Given the description of an element on the screen output the (x, y) to click on. 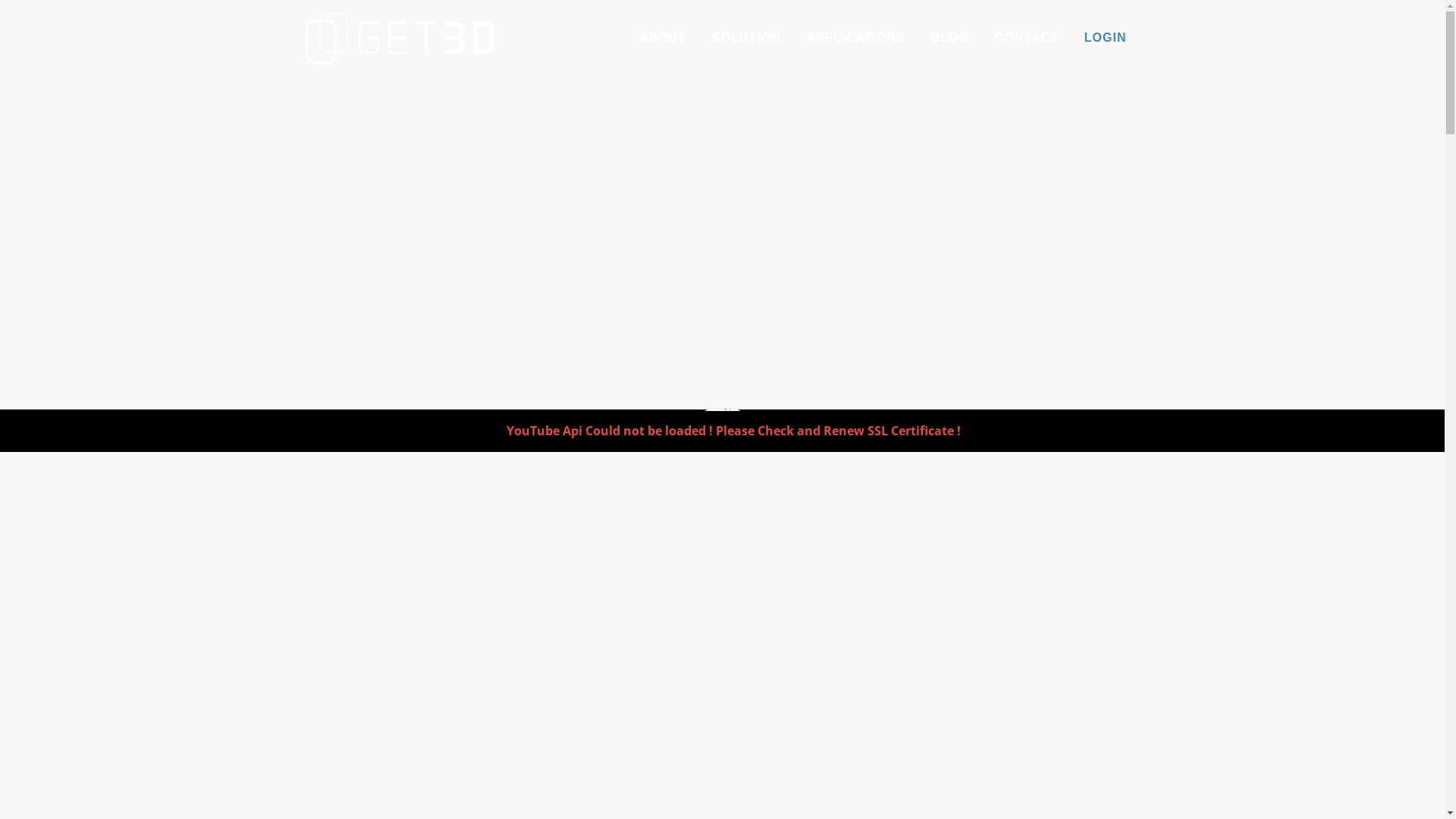
ABOUT Element type: text (662, 37)
BLOG Element type: text (950, 37)
LOGIN Element type: text (1105, 37)
SOLUTION Element type: text (746, 37)
APPLICATIONS Element type: text (855, 37)
CONTACT Element type: text (1026, 37)
